Given the description of an element on the screen output the (x, y) to click on. 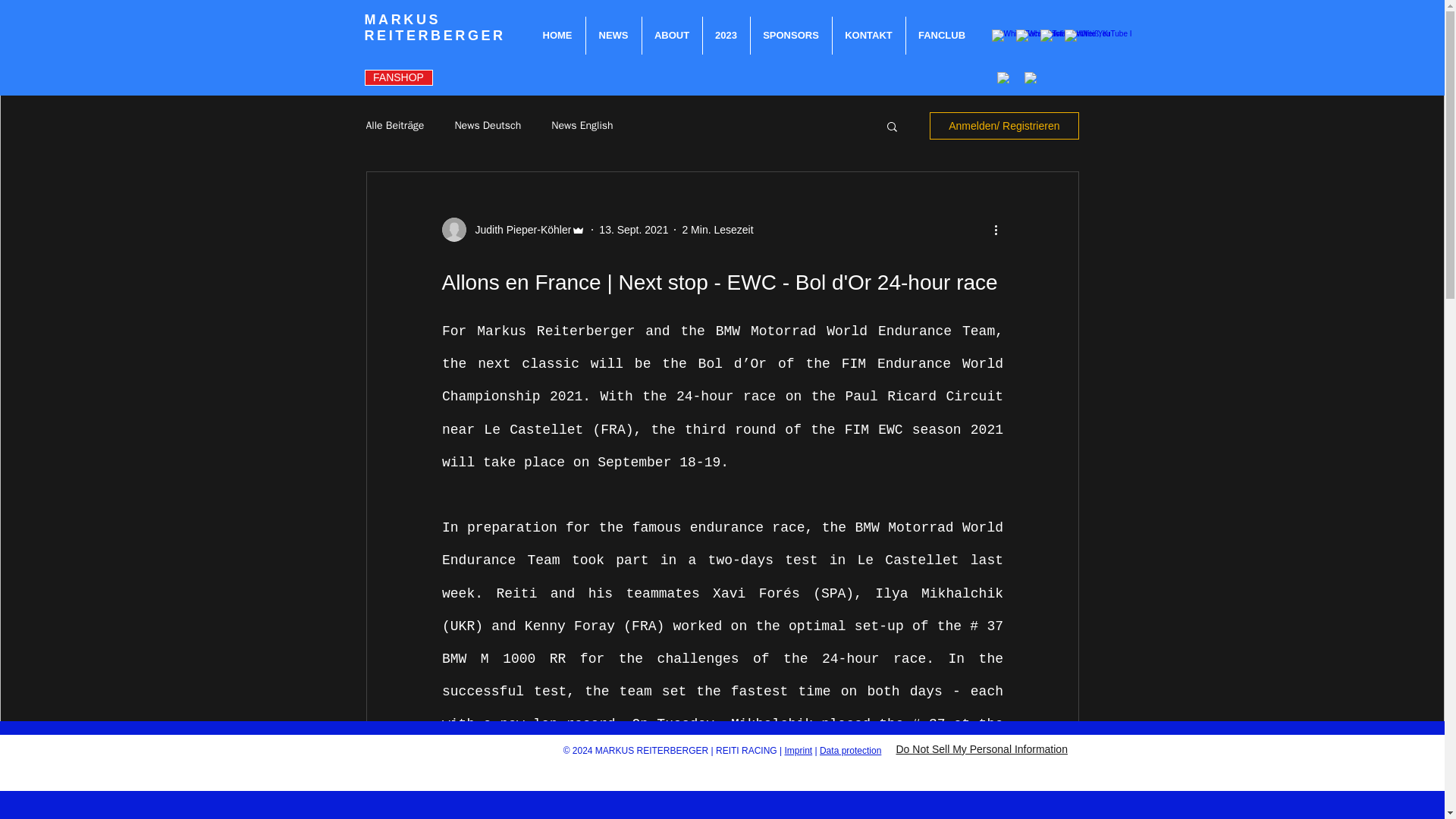
2023 (725, 35)
HOME (557, 35)
ABOUT (671, 35)
FANSHOP (398, 77)
SPONSORS (791, 35)
News Deutsch (487, 125)
MARKUS REITERBERGER (434, 27)
KONTAKT (868, 35)
2 Min. Lesezeit (716, 228)
News English (581, 125)
